Given the description of an element on the screen output the (x, y) to click on. 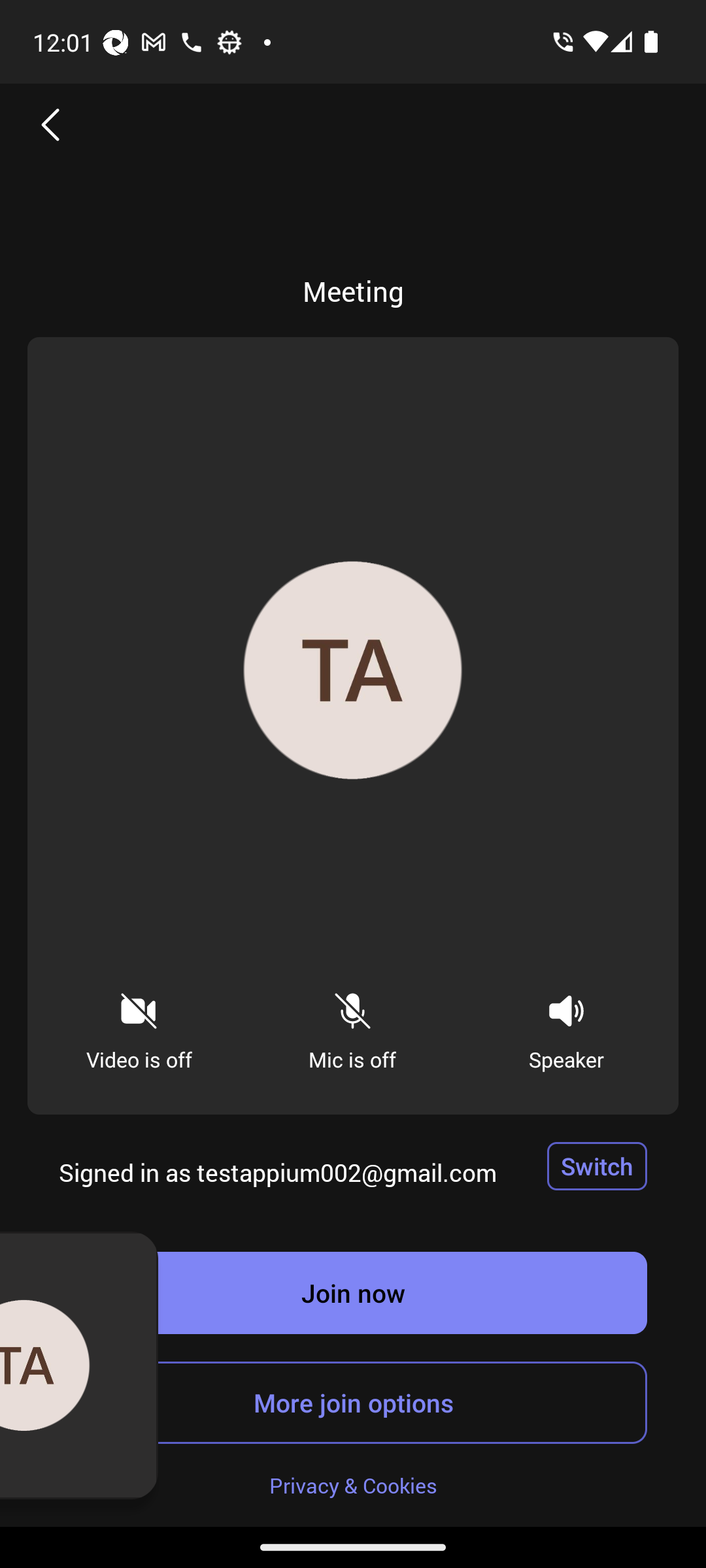
Back (51, 124)
Video is off (138, 1025)
Mic muted Mic is off (352, 1025)
Audio Speaker Audio Speaker (566, 1025)
Switch (597, 1165)
Join now (352, 1292)
More join options (352, 1402)
Privacy & Cookies (352, 1484)
